Given the description of an element on the screen output the (x, y) to click on. 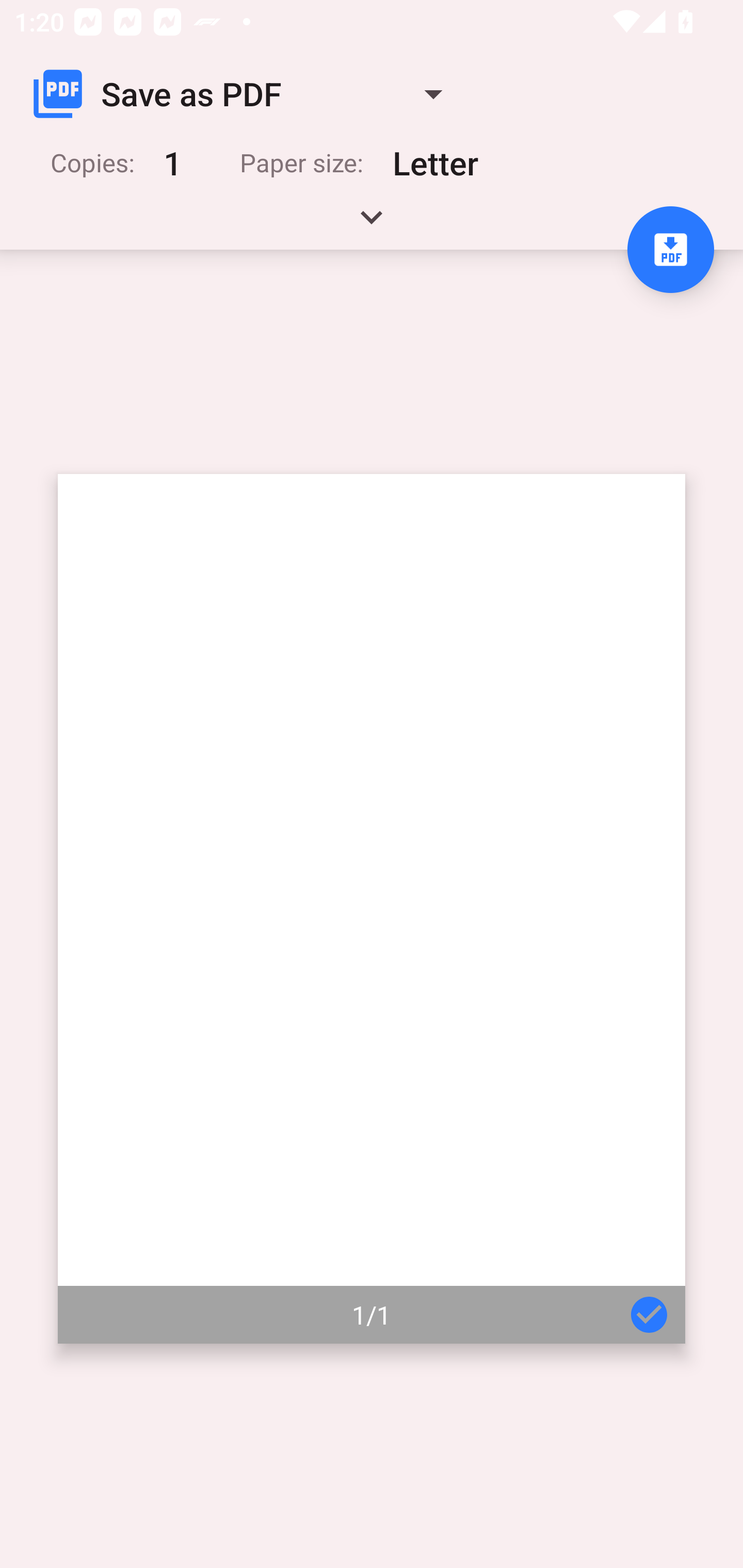
Save as PDF (245, 93)
Expand handle (371, 224)
Save to PDF (670, 249)
Page 1 of 1 1/1 (371, 908)
